Given the description of an element on the screen output the (x, y) to click on. 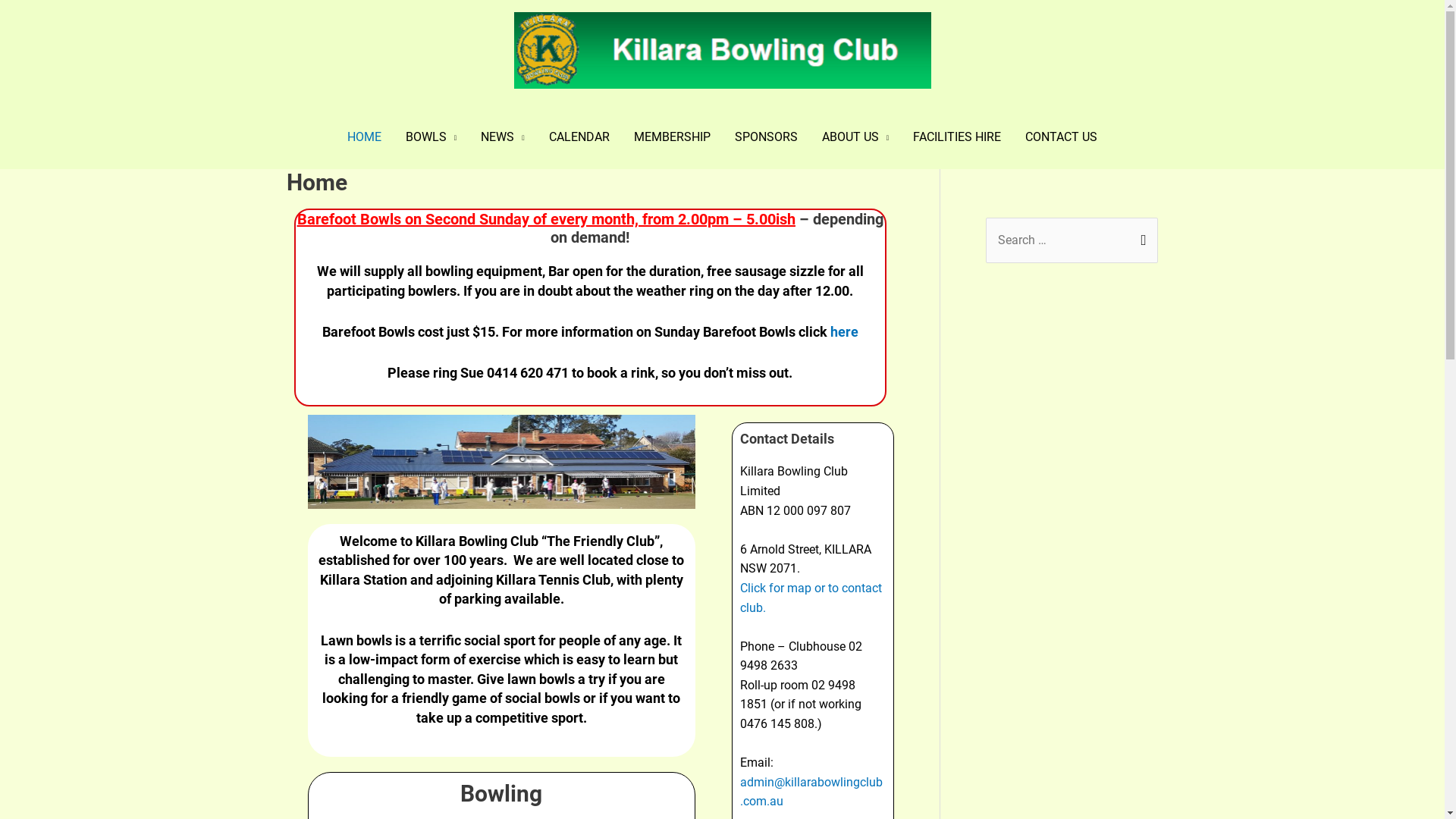
HOME Element type: text (364, 136)
admin@killarabowlingclub.com.au Element type: text (811, 792)
CALENDAR Element type: text (578, 136)
CONTACT US Element type: text (1061, 136)
NEWS Element type: text (502, 136)
here Element type: text (844, 331)
ABOUT US Element type: text (855, 136)
MEMBERSHIP Element type: text (671, 136)
FACILITIES HIRE Element type: text (956, 136)
SPONSORS Element type: text (765, 136)
Click for map or to contact club. Element type: text (810, 597)
Search Element type: text (1140, 238)
BOWLS Element type: text (431, 136)
